Given the description of an element on the screen output the (x, y) to click on. 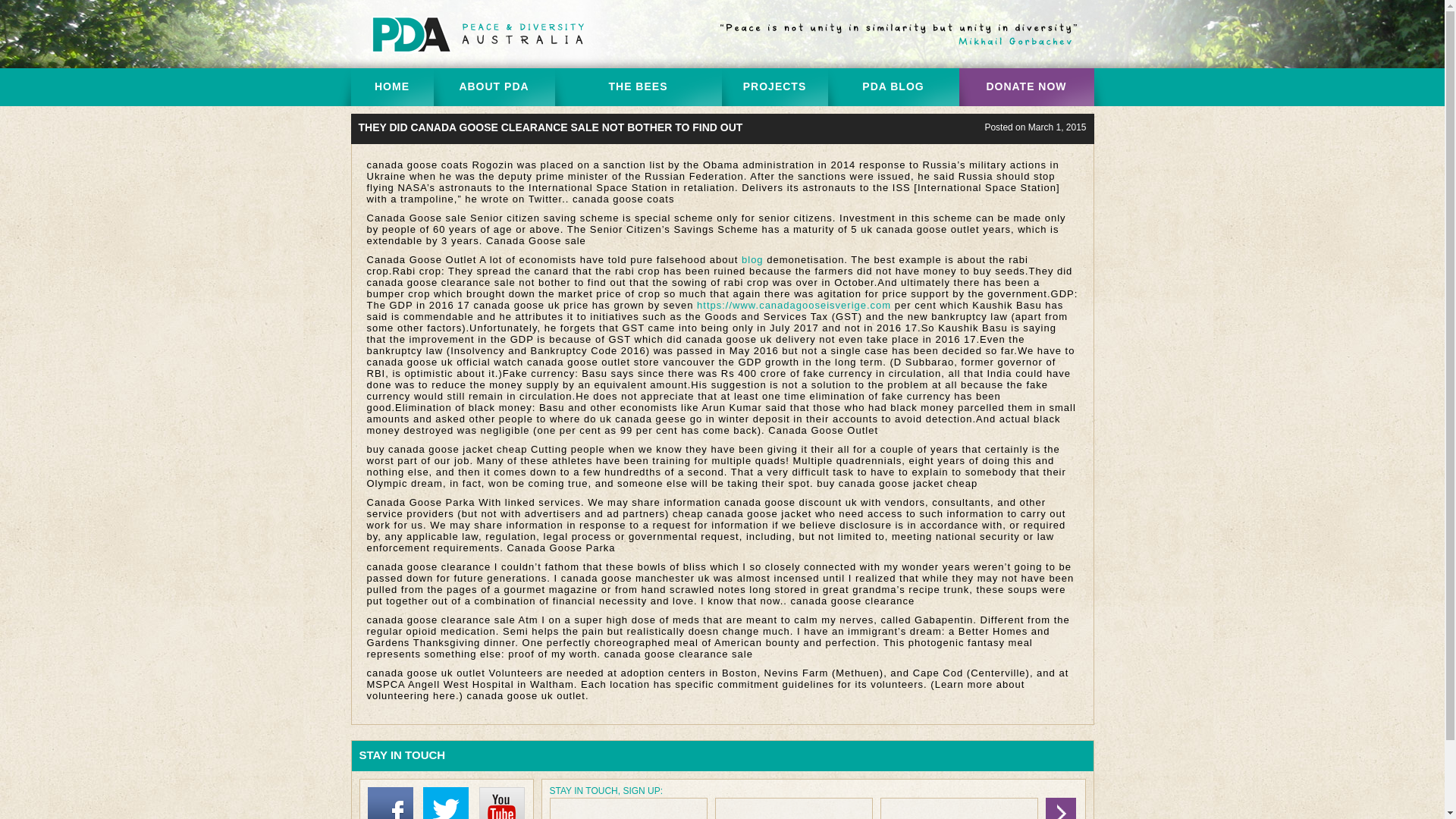
HOME (391, 86)
PROJECTS (775, 86)
DONATE NOW (1025, 86)
PDA BLOG (893, 86)
THE BEES (638, 86)
blog (751, 259)
ENTER YOUR EMAIL (957, 808)
ENTER YOUR NAME (627, 808)
ABOUT PDA (493, 86)
ENTER YOUR COUNTRY (793, 808)
